Given the description of an element on the screen output the (x, y) to click on. 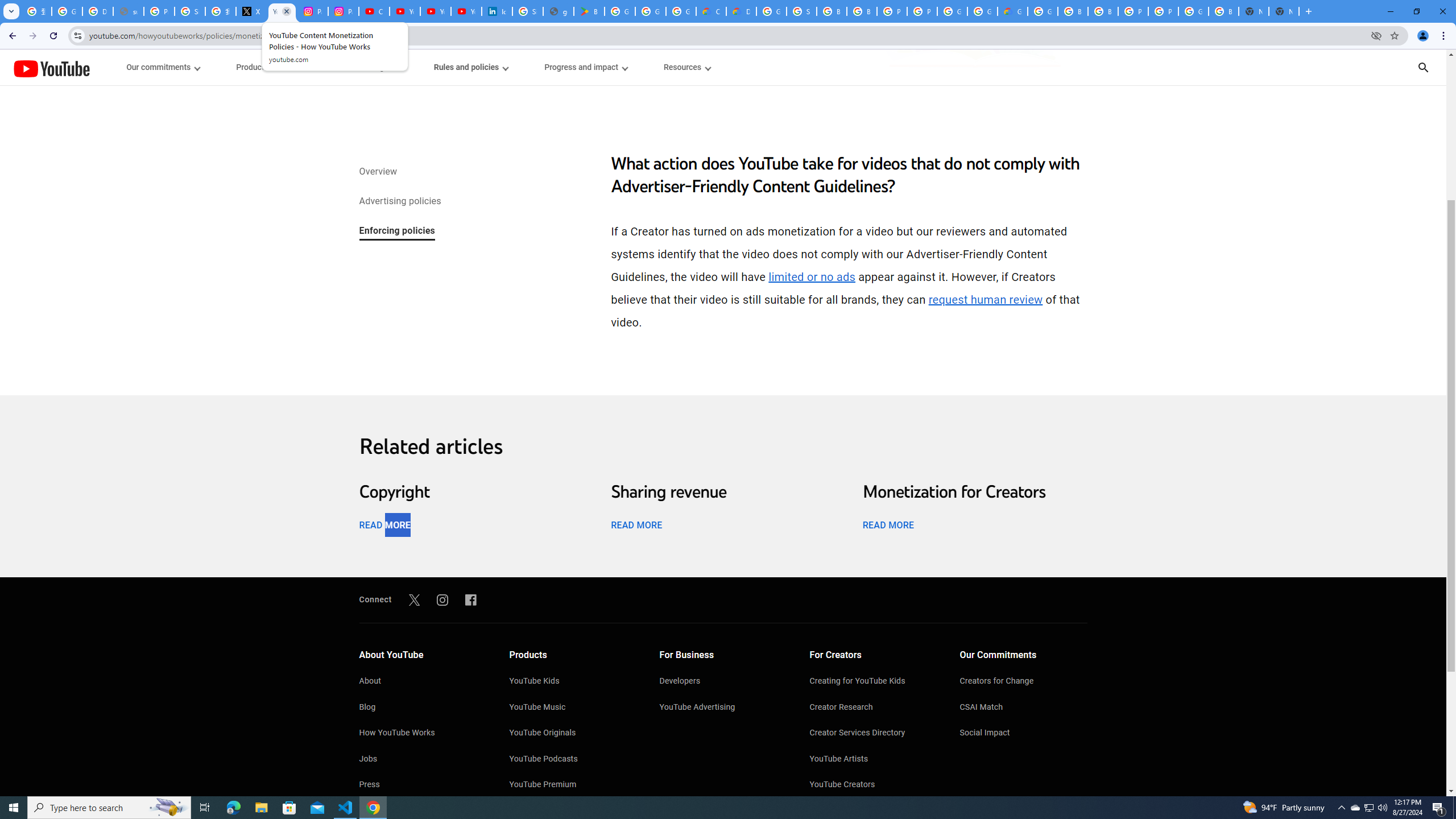
Privacy Help Center - Policies Help (158, 11)
Resources menupopup (686, 67)
READ MORE (887, 524)
Sign in - Google Accounts (527, 11)
Developers (723, 682)
YouTube Premium (573, 785)
YouTube Content Monetization Policies - How YouTube Works (282, 11)
YouTube Culture & Trends - YouTube Top 10, 2021 (465, 11)
